Given the description of an element on the screen output the (x, y) to click on. 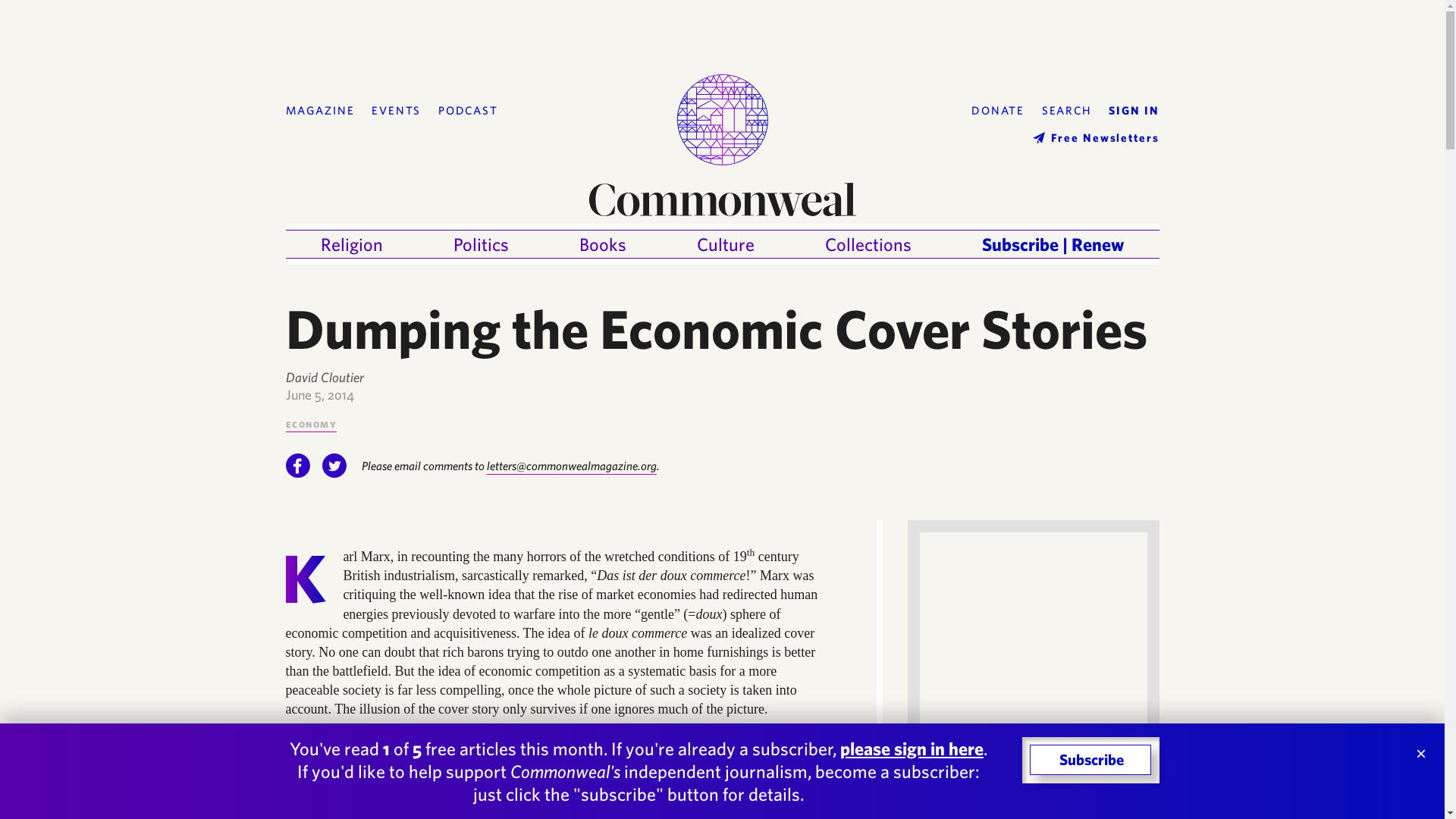
SEARCH (1067, 111)
Thursday, June 5, 2014 - 07:33 (319, 394)
DONATE (998, 111)
David Cloutier (323, 376)
MAGAZINE (319, 111)
PODCAST (467, 111)
SIGN IN (1133, 111)
EVENTS (395, 111)
Religion (351, 243)
